Given the description of an element on the screen output the (x, y) to click on. 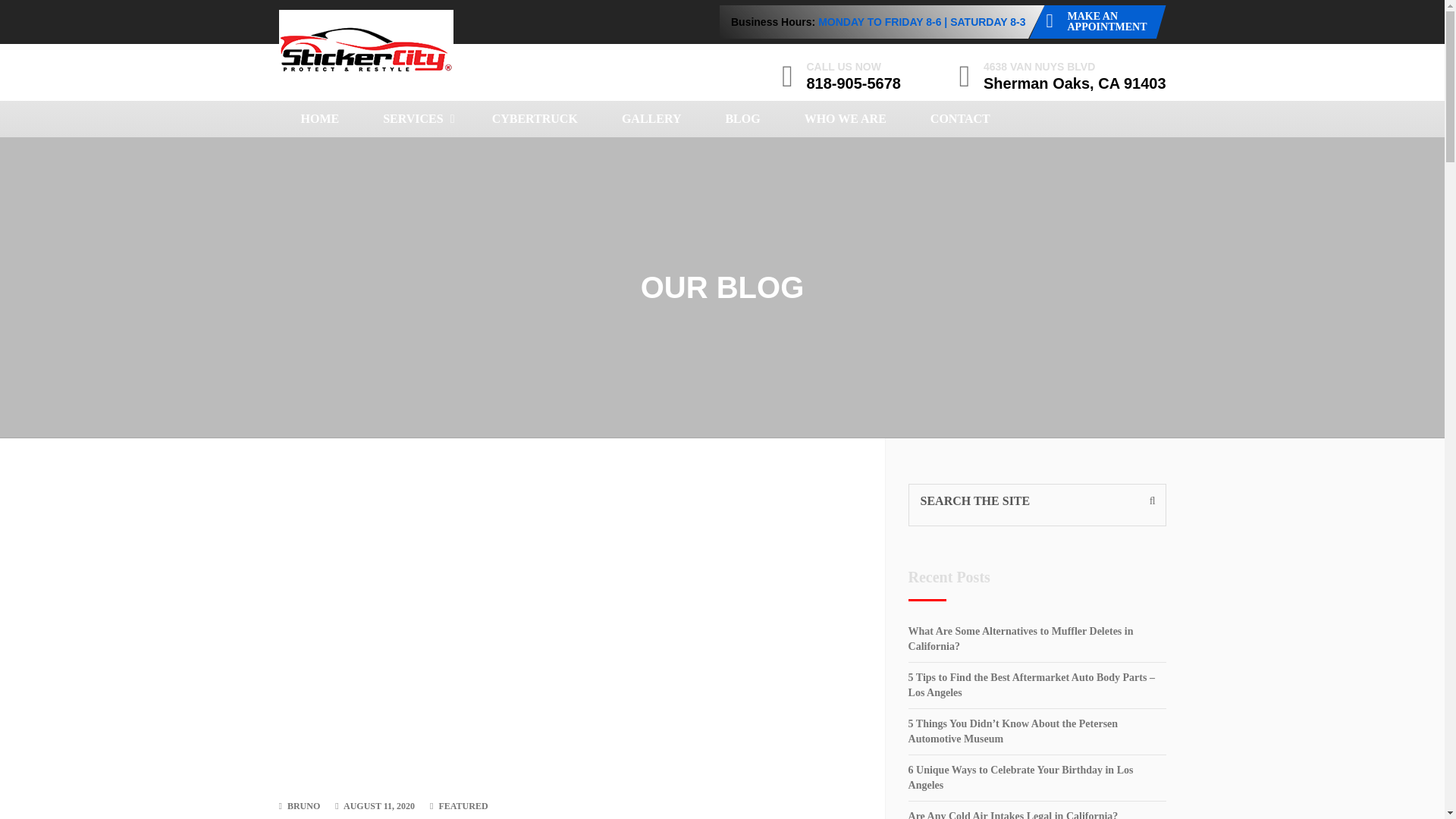
Tweet (361, 231)
SERVICES (414, 118)
HOME (320, 118)
Posts by Bruno (303, 805)
BLOG (742, 118)
BRUNO (303, 805)
FEATURED (462, 805)
View all posts in Featured (462, 805)
CONTACT (959, 118)
Pin It (480, 231)
MAKE AN APPOINTMENT (1097, 21)
GALLERY (651, 118)
WHO WE ARE (845, 118)
CYBERTRUCK (534, 118)
